Given the description of an element on the screen output the (x, y) to click on. 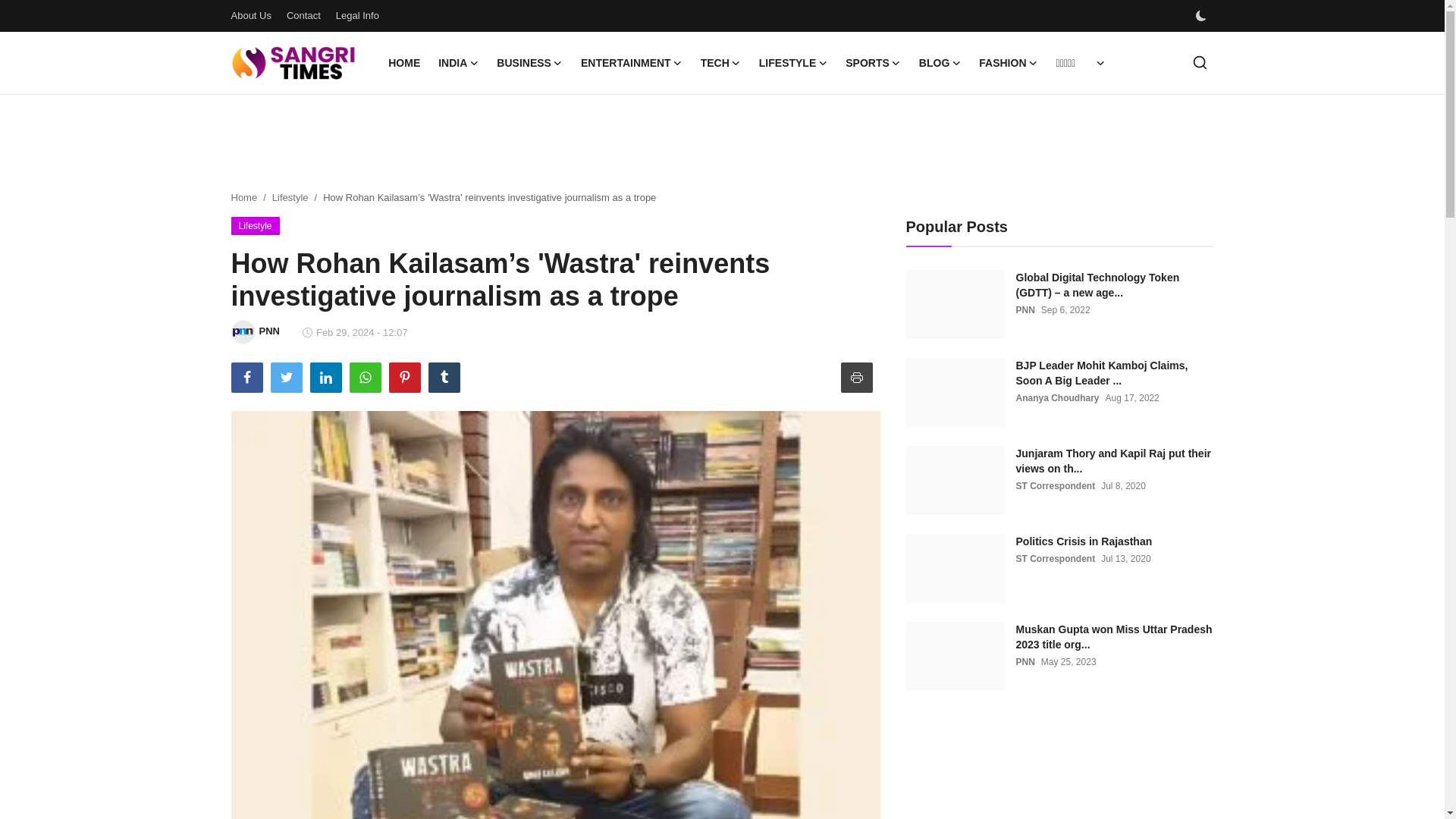
About Us (250, 15)
FASHION (1007, 62)
INDIA (458, 62)
SPORTS (872, 62)
BUSINESS (529, 62)
TECH (720, 62)
ENTERTAINMENT (631, 62)
BLOG (939, 62)
dark (1200, 15)
Legal Info (357, 15)
LIFESTYLE (792, 62)
Contact (303, 15)
